Given the description of an element on the screen output the (x, y) to click on. 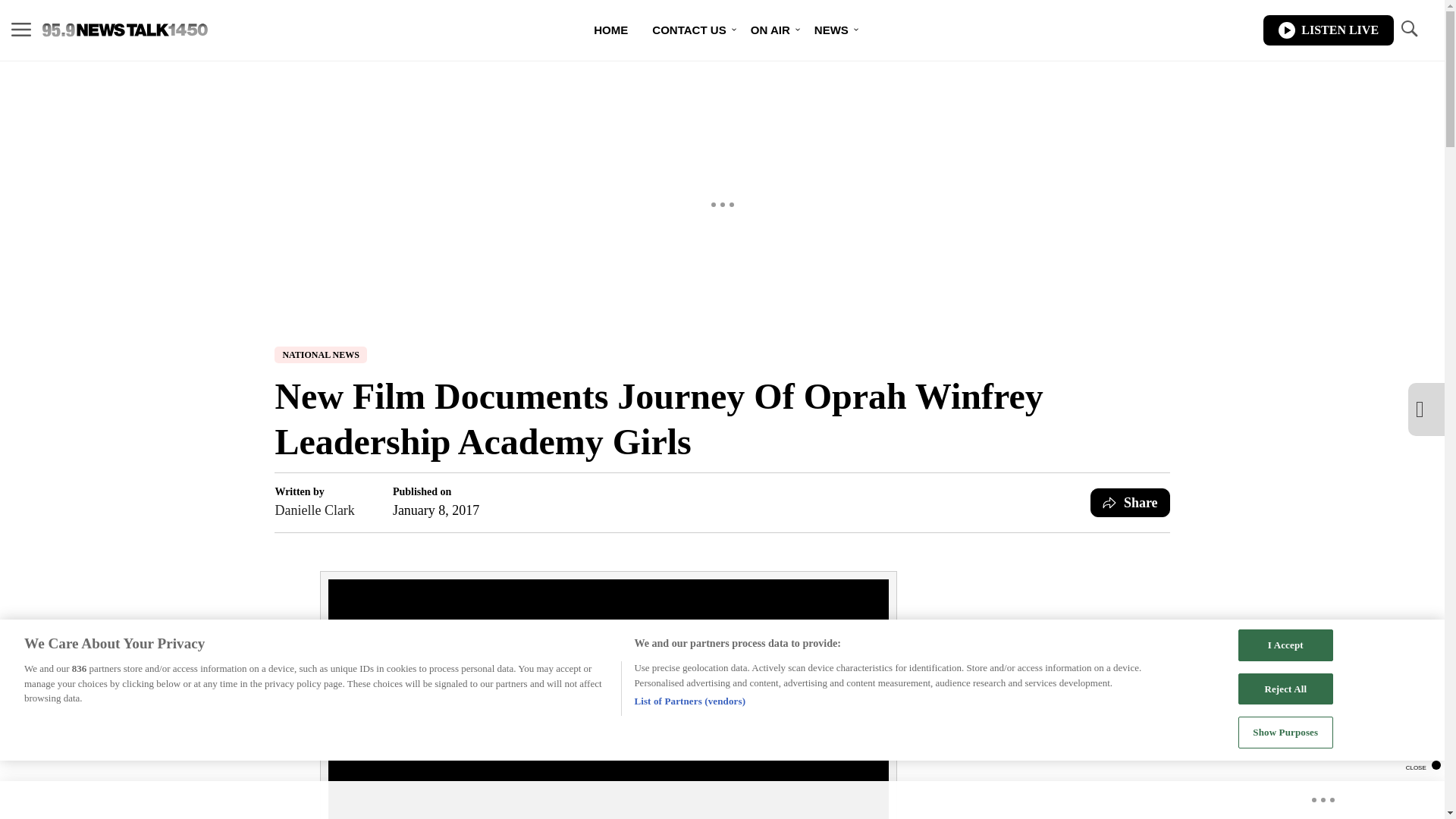
TOGGLE SEARCH (1408, 28)
CONTACT US (689, 30)
HOME (610, 30)
Share (1130, 502)
NEWS (831, 30)
NATIONAL NEWS (320, 354)
Danielle Clark (314, 509)
TOGGLE SEARCH (1408, 30)
MENU (20, 29)
MENU (20, 30)
LISTEN LIVE (1328, 30)
ON AIR (770, 30)
